Given the description of an element on the screen output the (x, y) to click on. 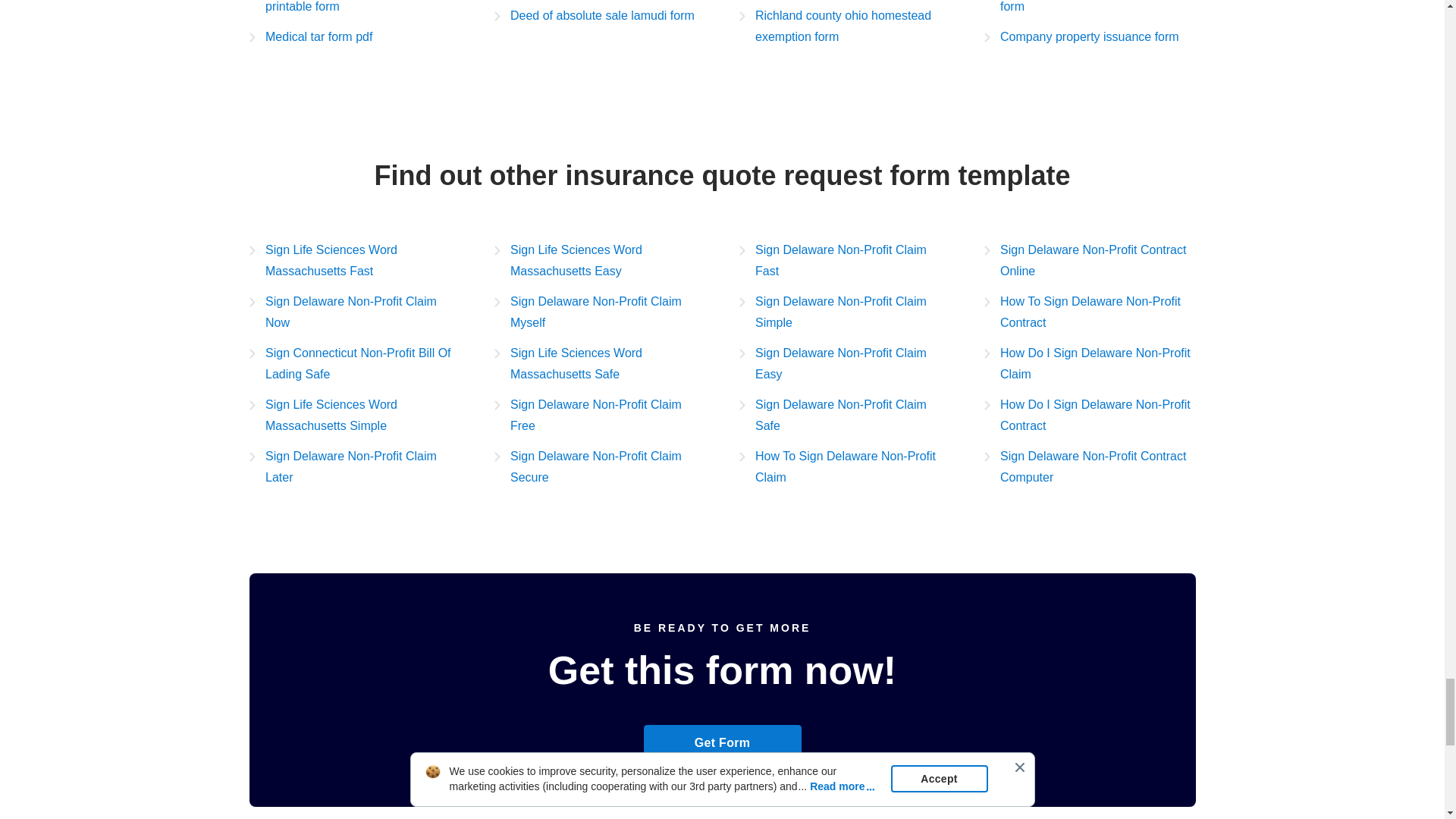
Sign Delaware Non-Profit Claim Secure (600, 466)
Sign Life Sciences Word Massachusetts Simple (354, 414)
Sign Delaware Non-Profit Claim Free (600, 414)
Company property issuance form (1081, 36)
Sign Connecticut Non-Profit Bill Of Lading Safe (354, 363)
Sign Life Sciences Word Massachusetts Safe (600, 363)
Sign Delaware Non-Profit Claim Now (354, 312)
Sign Life Sciences Word Massachusetts Easy (600, 260)
Medical tar form pdf (309, 36)
Richland county ohio homestead exemption form (844, 25)
Sign Life Sciences Word Massachusetts Fast (354, 260)
Assurance wireless application printable form (354, 8)
Religious education past papers pdf form (1089, 8)
Sign Delaware Non-Profit Claim Later (354, 466)
Deed of absolute sale lamudi form (594, 15)
